Given the description of an element on the screen output the (x, y) to click on. 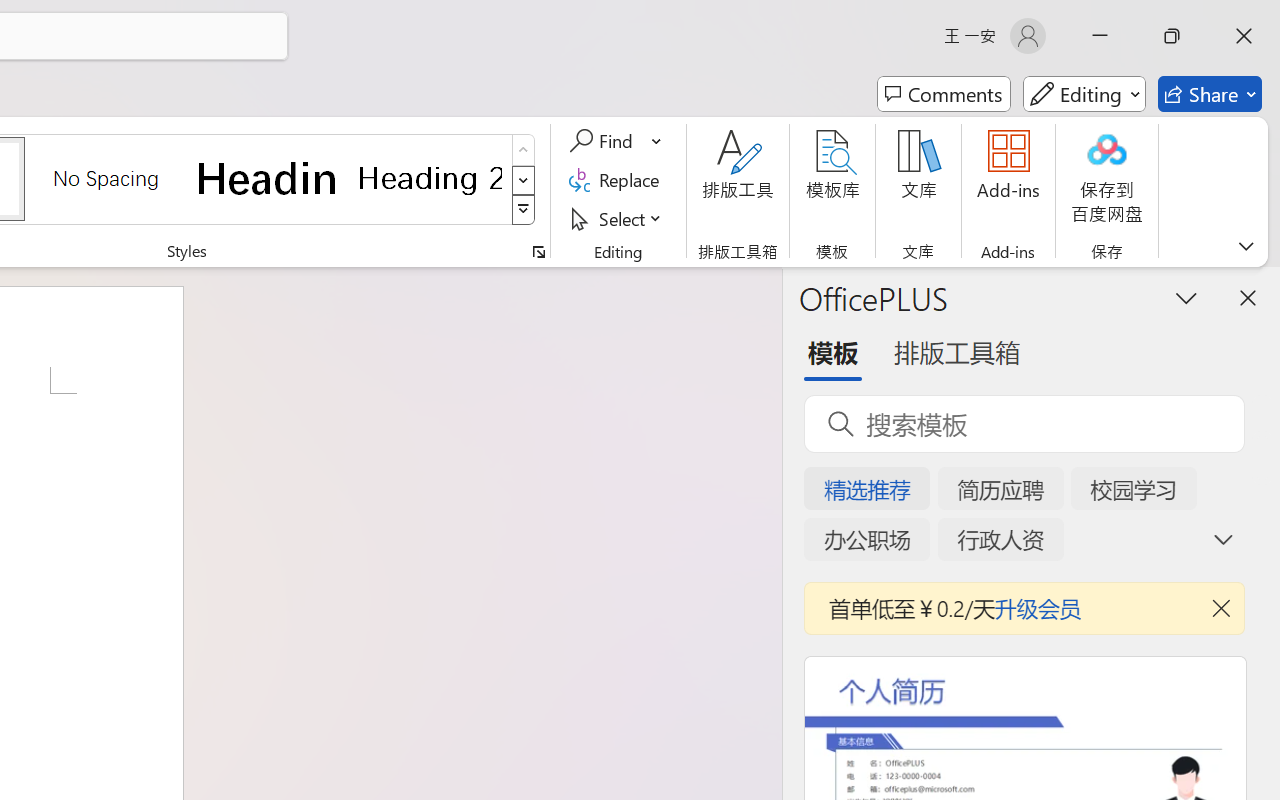
Select (618, 218)
Mode (1083, 94)
Styles... (538, 252)
Heading 1 (267, 178)
More Options (657, 141)
Comments (943, 94)
